Given the description of an element on the screen output the (x, y) to click on. 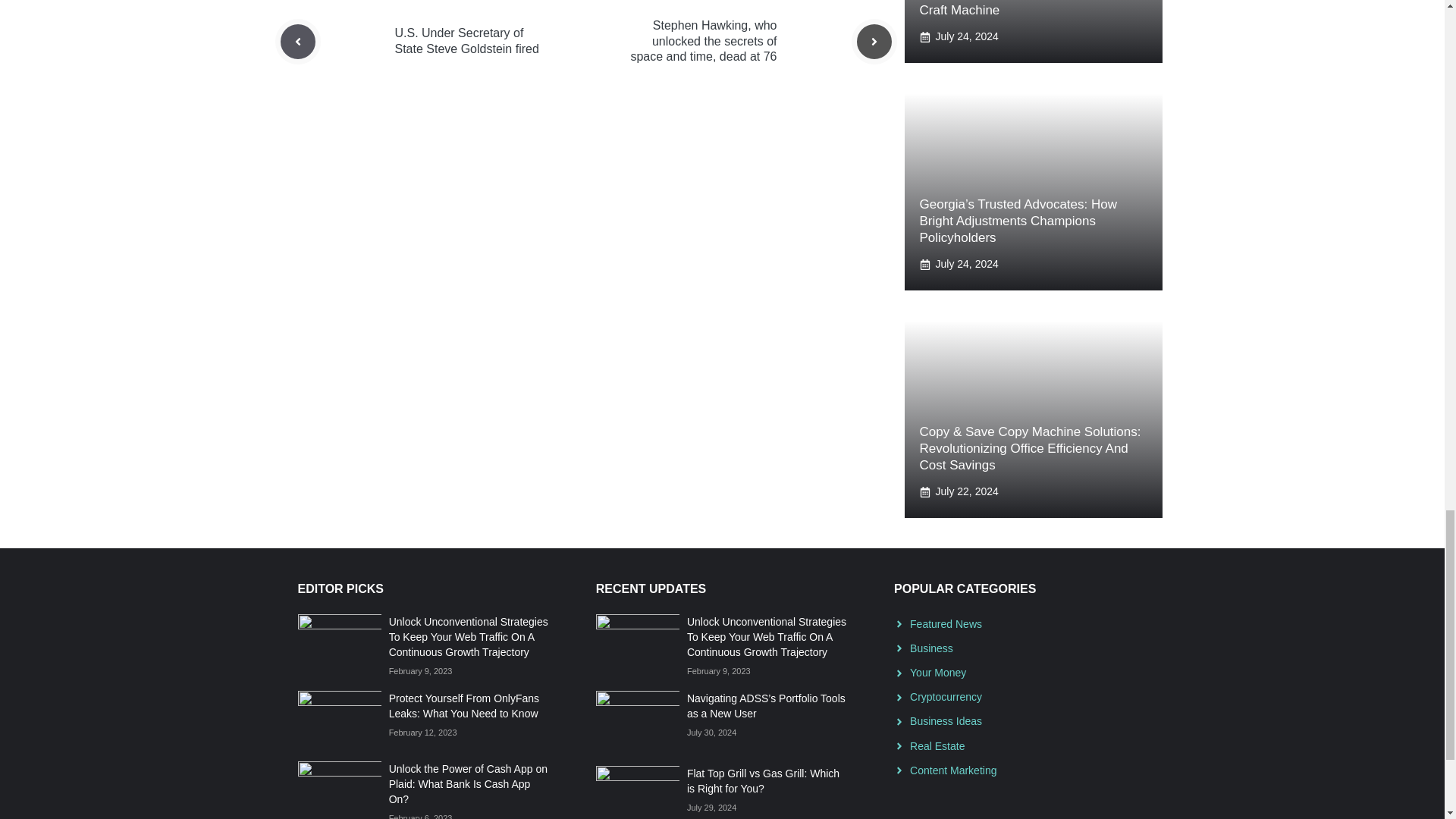
Business (931, 648)
Featured News (945, 623)
Flat Top Grill vs Gas Grill: Which is Right for You? (763, 780)
XTool M1 Ultra: The Ultimate All-In-One Craft Machine (1031, 8)
U.S. Under Secretary of State Steve Goldstein fired (466, 40)
Protect Yourself From OnlyFans Leaks: What You Need to Know (463, 705)
